Given the description of an element on the screen output the (x, y) to click on. 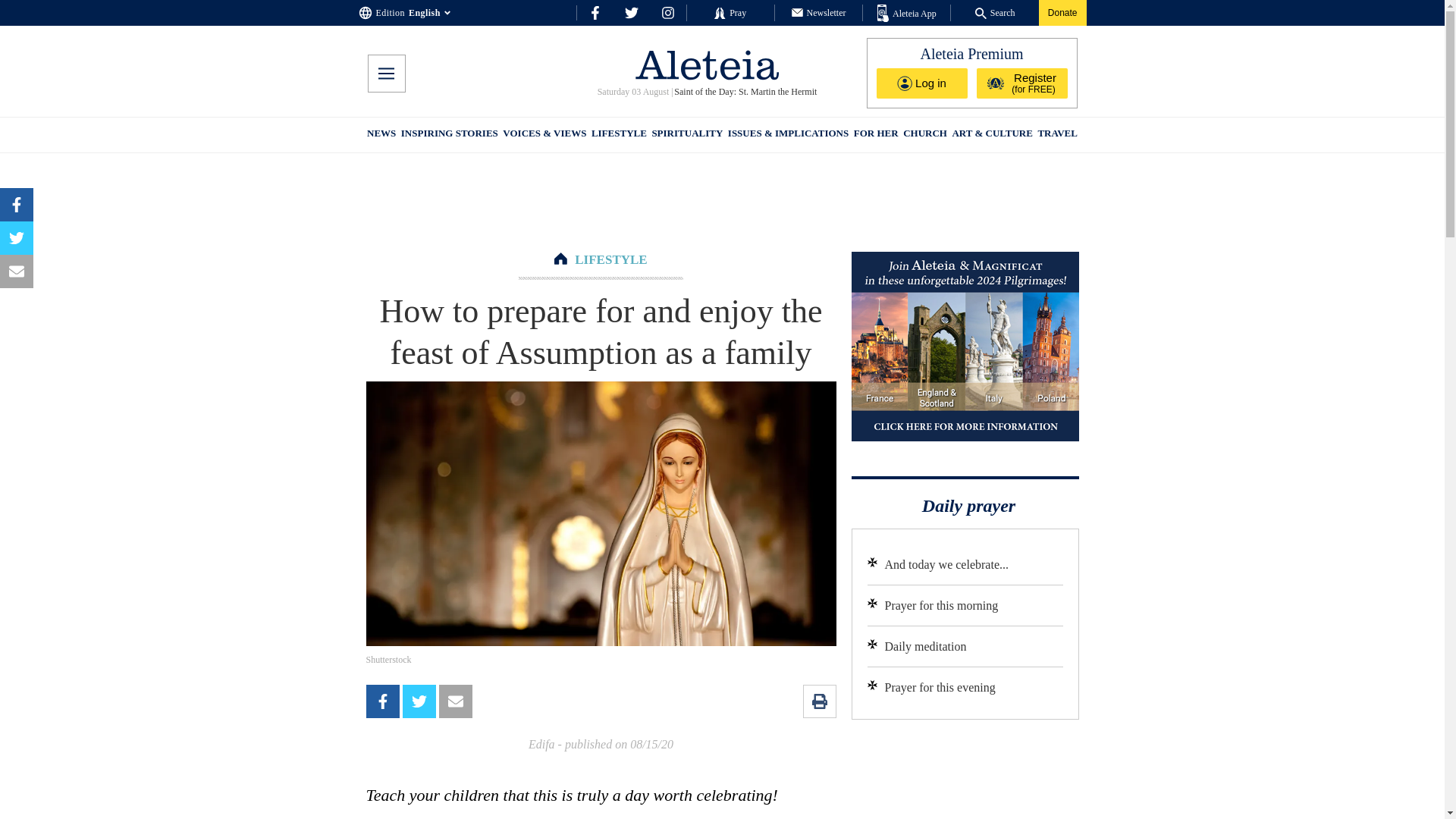
social-ig-top-row (668, 12)
TRAVEL (1056, 134)
Aleteia App (906, 13)
social-tw-top-row (631, 12)
Search (994, 12)
Edifa (541, 744)
CHURCH (924, 134)
Pray (729, 12)
LIFESTYLE (618, 134)
INSPIRING STORIES (449, 134)
